Given the description of an element on the screen output the (x, y) to click on. 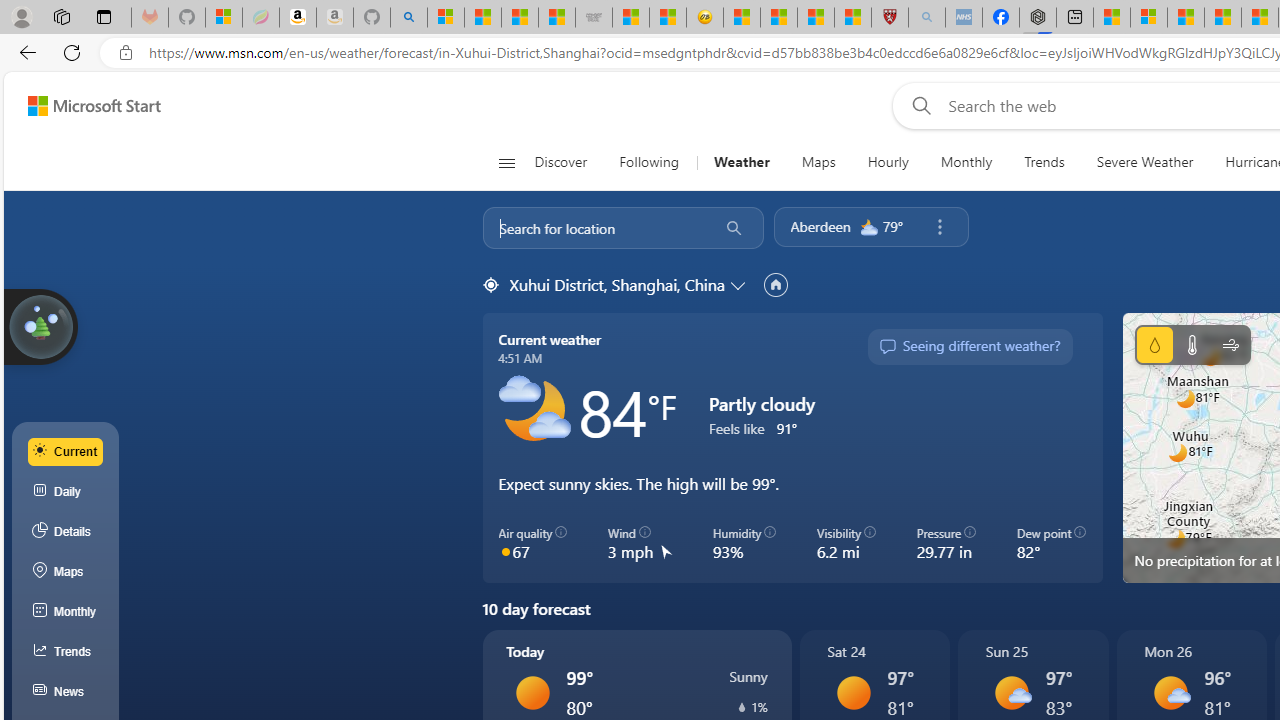
Monthly (966, 162)
Discover (568, 162)
Severe Weather (1144, 162)
Severe Weather (1144, 162)
Skip to content (86, 105)
Stocks - MSN (556, 17)
Open navigation menu (506, 162)
Aberdeen (820, 226)
MSNBC - MSN (519, 17)
Set as primary location (775, 284)
